Given the description of an element on the screen output the (x, y) to click on. 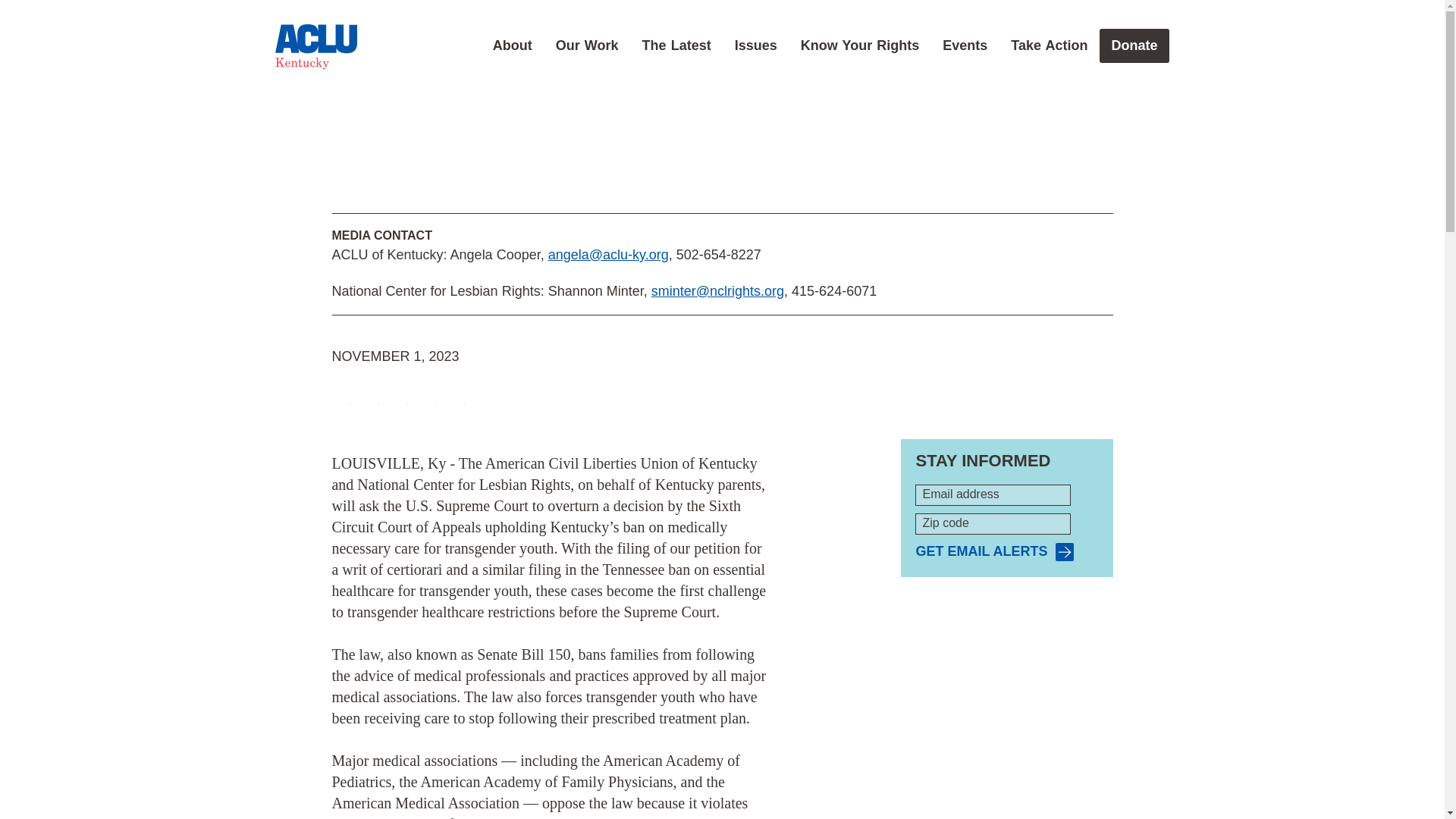
Donate (1134, 45)
Email this page (427, 396)
Email (427, 396)
Know Your Rights (860, 45)
Submit this to Reddit (398, 396)
Submit this to Twitter (369, 396)
Zip code (992, 523)
ACLU of Kentucky - logo (315, 46)
Events (964, 45)
